Given the description of an element on the screen output the (x, y) to click on. 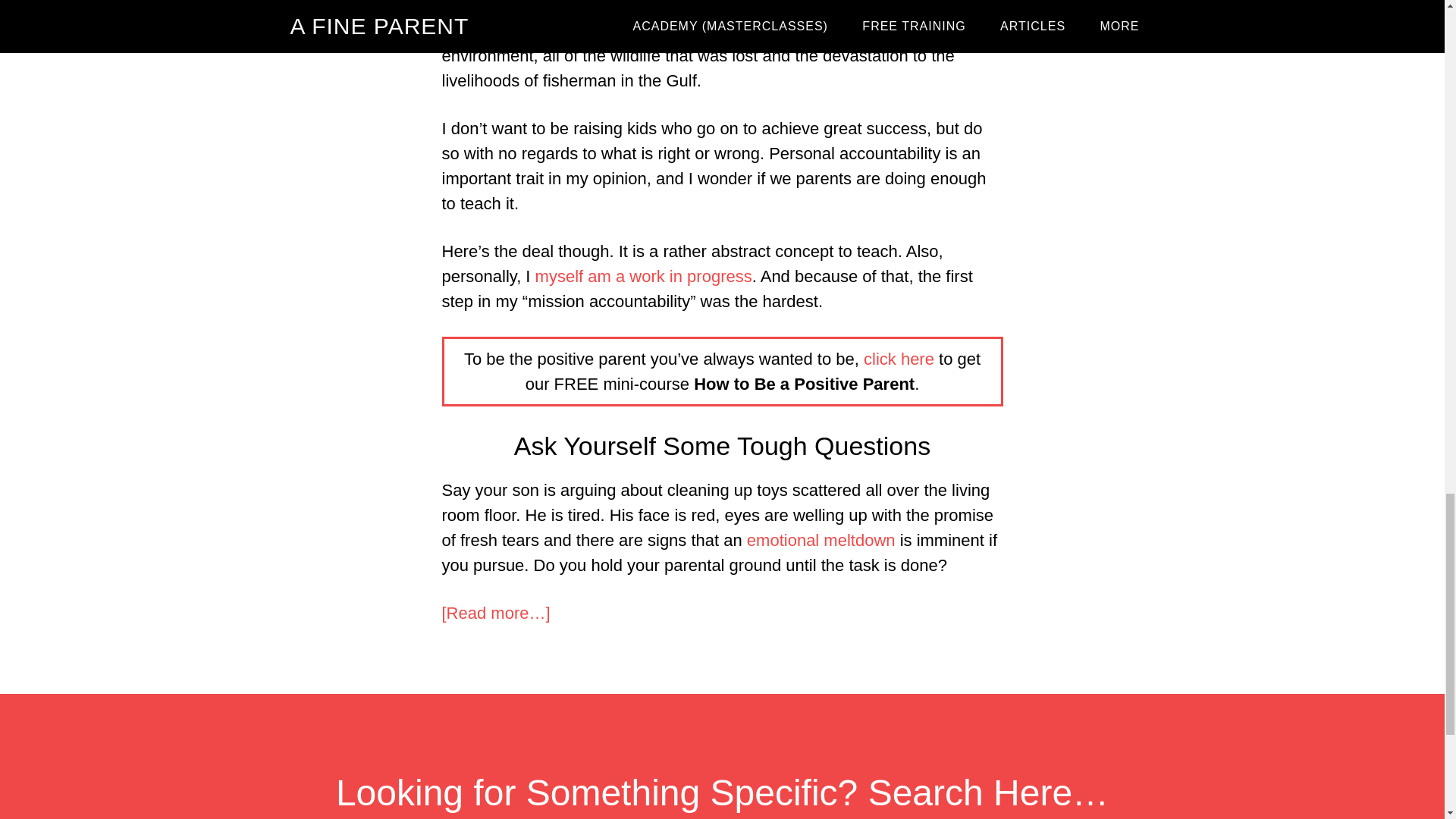
click here (898, 358)
myself am a work in progress (643, 275)
emotional meltdown (820, 539)
